Given the description of an element on the screen output the (x, y) to click on. 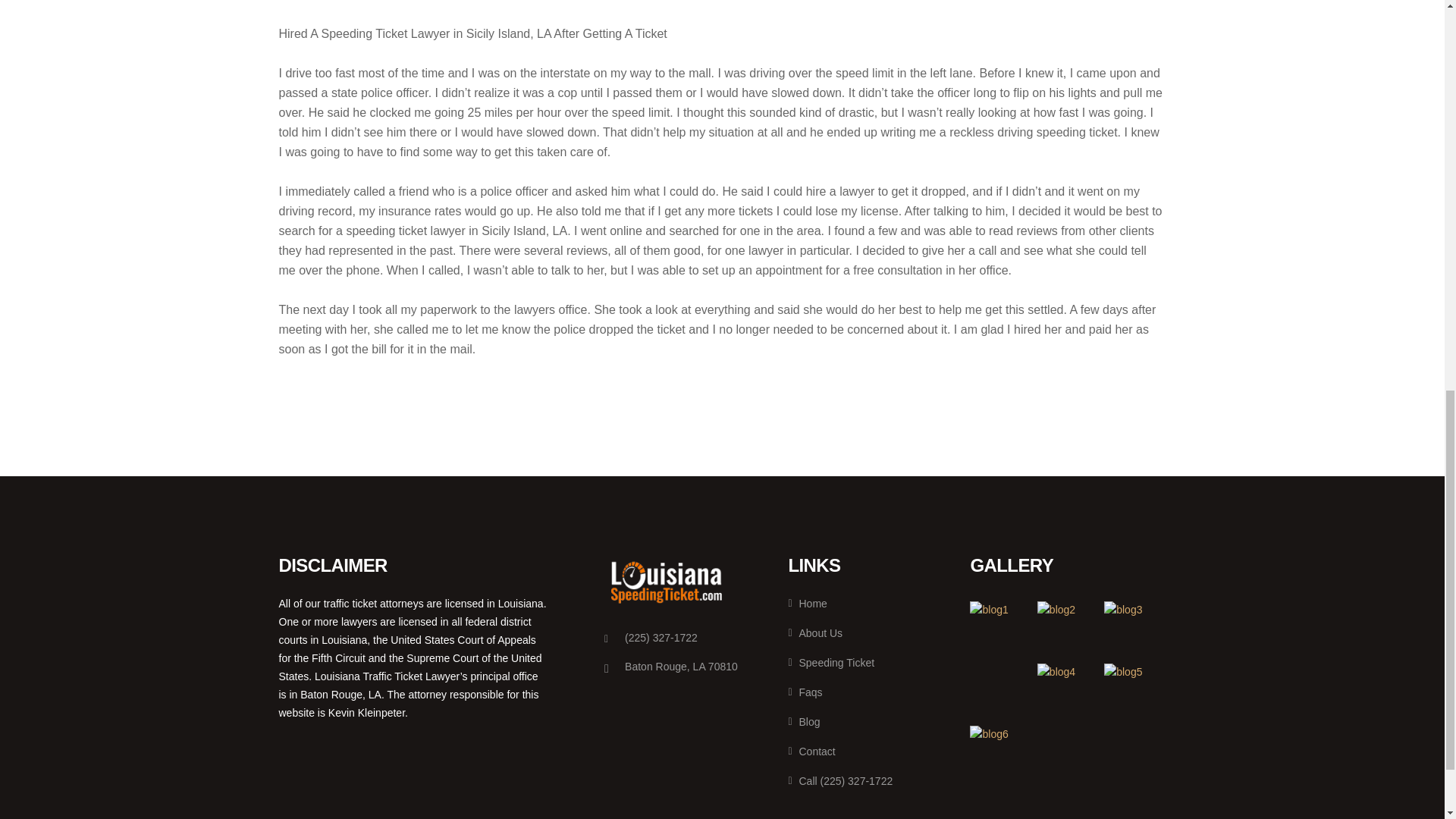
Blog (803, 721)
blog3 (1132, 628)
blog6 (998, 752)
blog1 (998, 630)
blog5 (1132, 690)
Home (807, 603)
About Us (815, 633)
Contact (810, 751)
Faqs (804, 692)
blog4 (1066, 690)
